Given the description of an element on the screen output the (x, y) to click on. 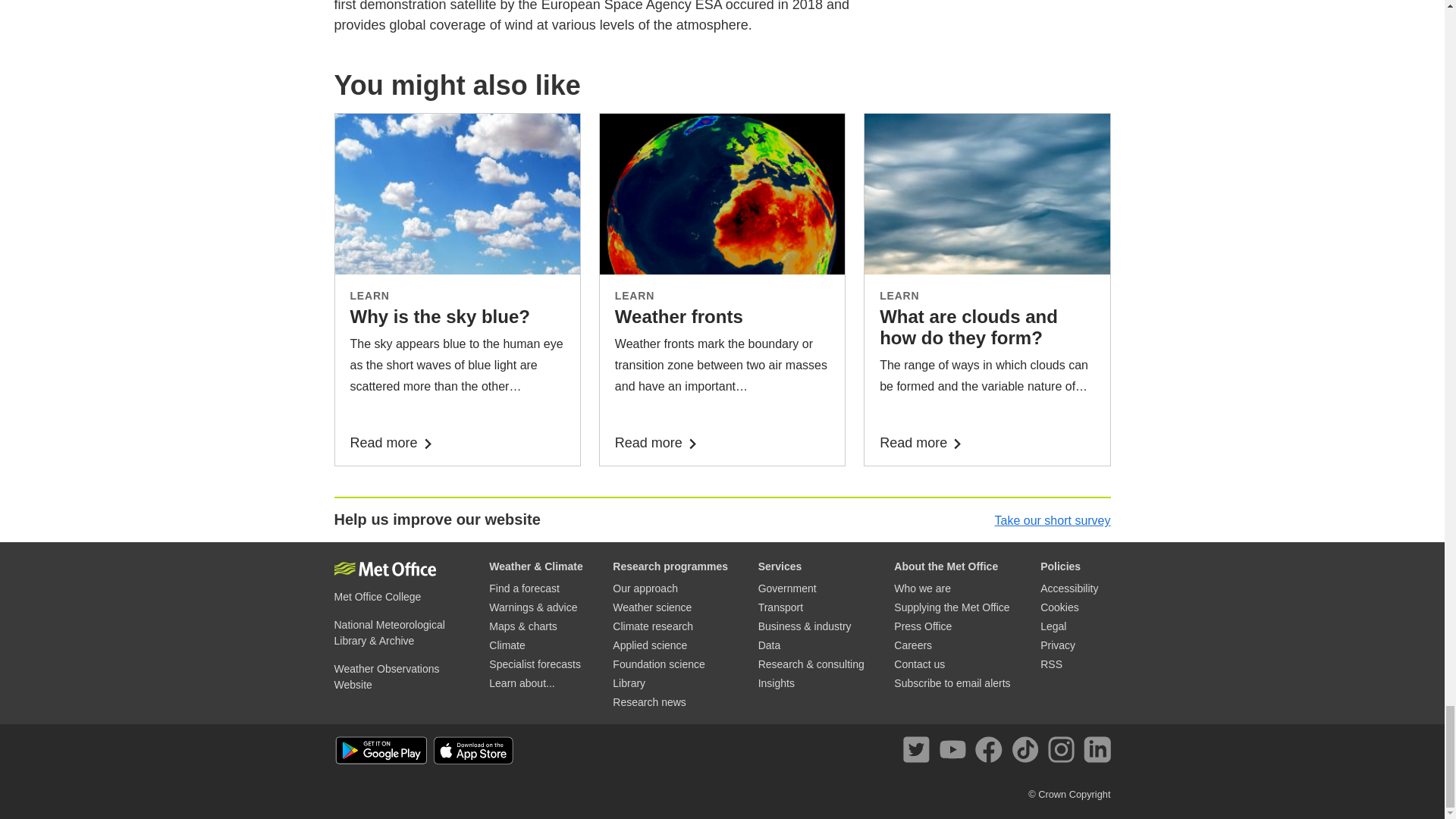
Follow us on Twitter (919, 752)
Follow us on Youtube (955, 752)
Follow us on TikTok (1027, 752)
Follow us on Facebook (991, 752)
Follow us on Instagram (1064, 752)
